Given the description of an element on the screen output the (x, y) to click on. 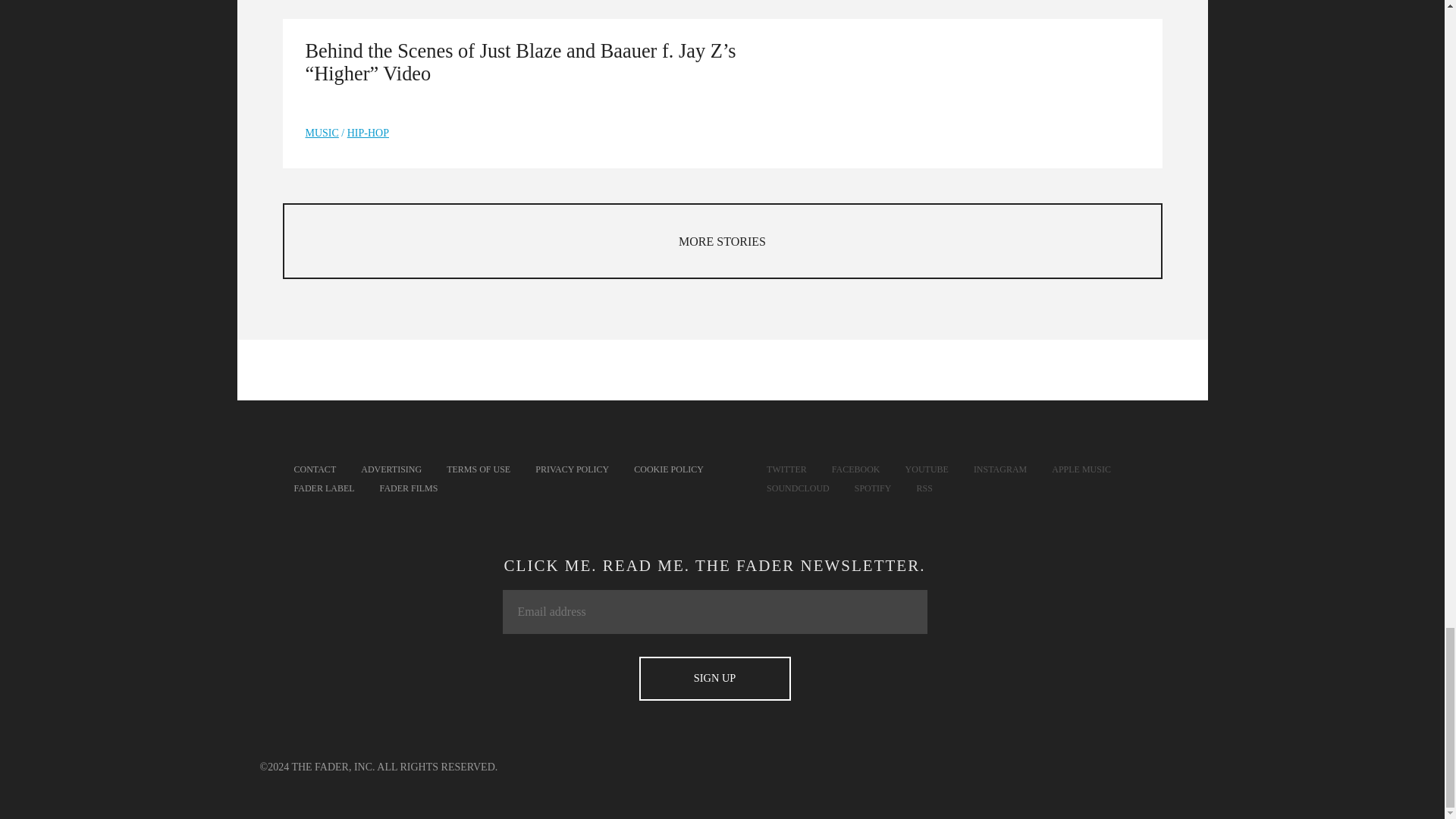
Sign Up (714, 678)
